Given the description of an element on the screen output the (x, y) to click on. 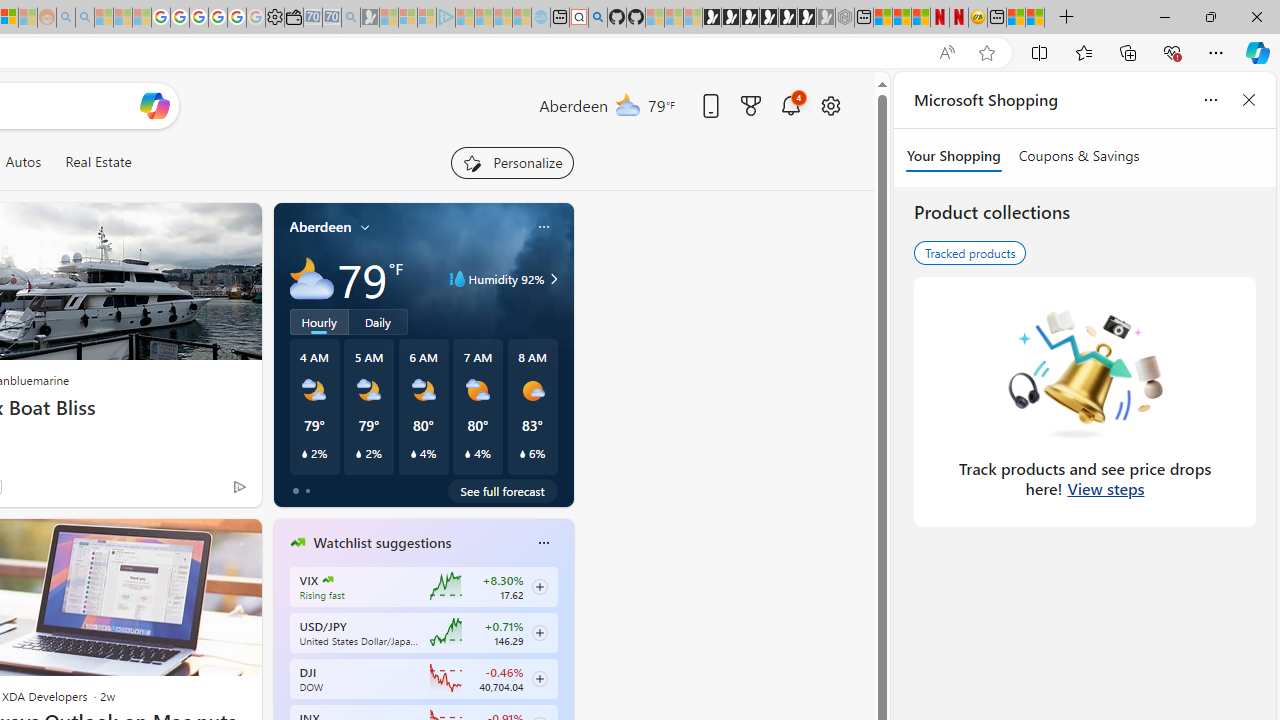
Bing Real Estate - Home sales and rental listings - Sleeping (350, 17)
Favorites (1083, 52)
Play Cave FRVR in your browser | Games from Microsoft Start (750, 17)
Hourly (319, 321)
New tab (997, 17)
Mostly cloudy (311, 278)
Autos (22, 161)
